Given the description of an element on the screen output the (x, y) to click on. 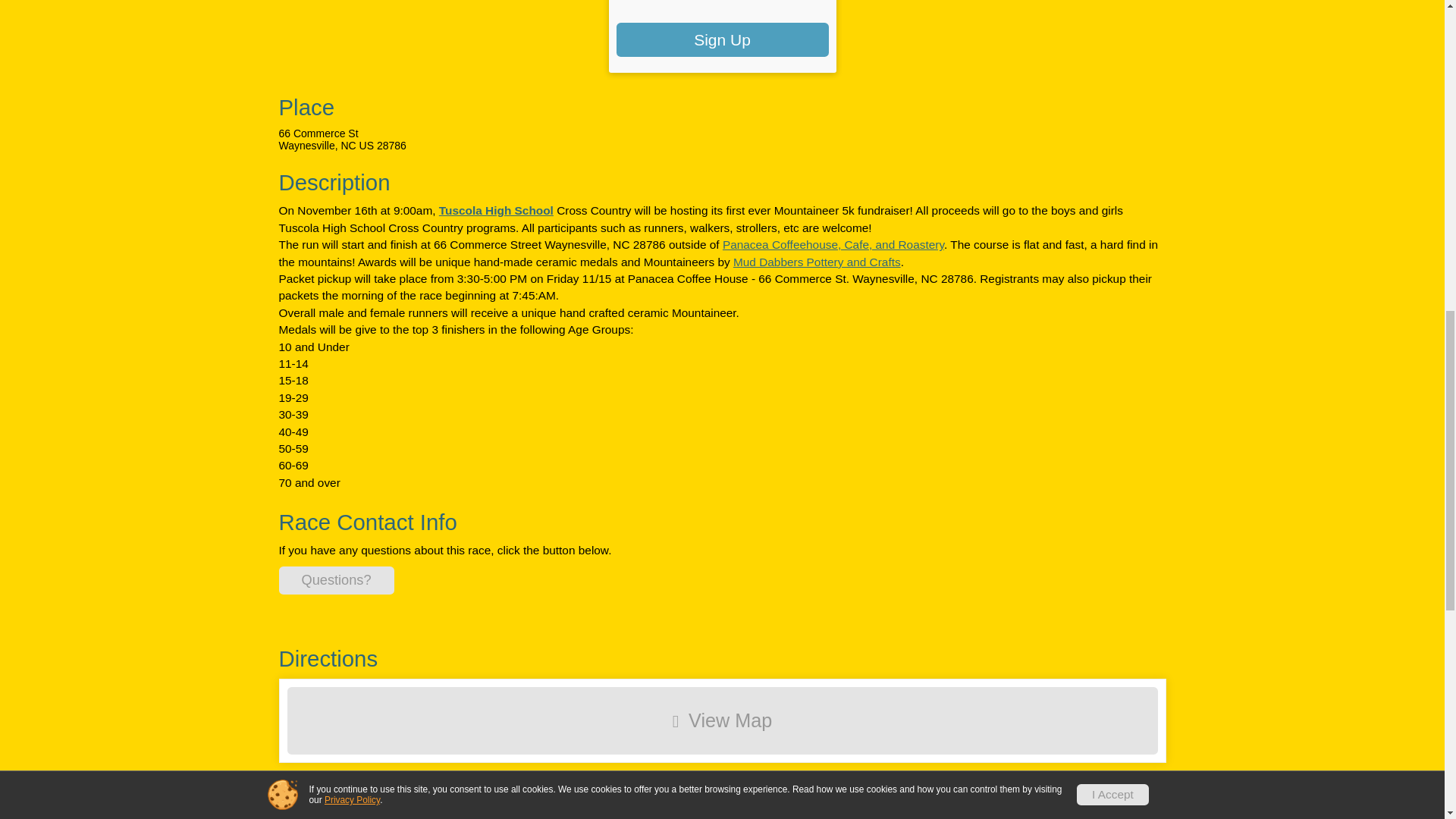
View Map (721, 720)
Questions? (336, 580)
Mud Dabbers Pottery and Crafts (817, 261)
Sign Up (721, 39)
Panacea Coffeehouse, Cafe, and Roastery (832, 244)
Tuscola High School (496, 210)
Facebook (512, 817)
